Given the description of an element on the screen output the (x, y) to click on. 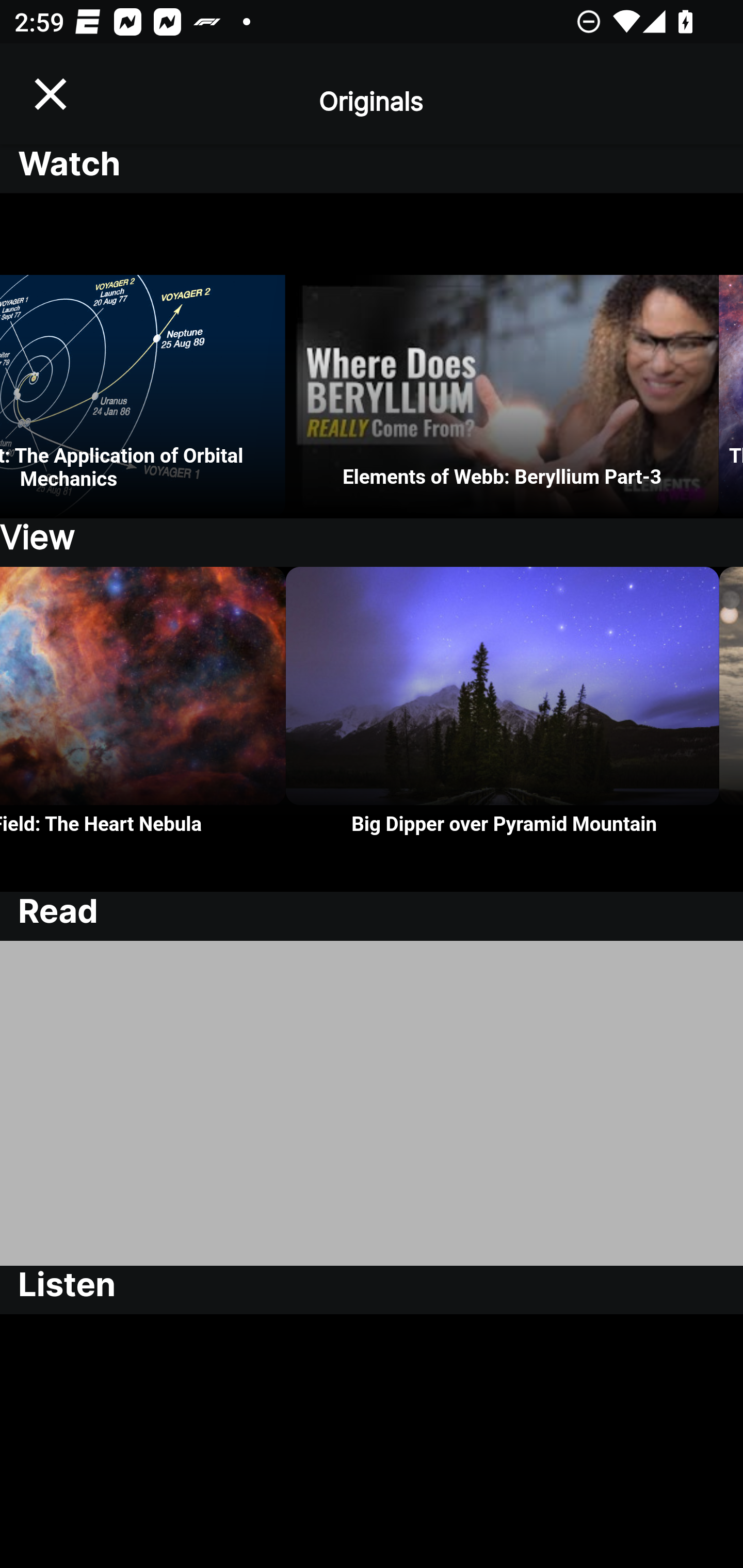
Space Flight: The Application of Orbital Mechanics (142, 355)
Elements of Webb: Beryllium Part-3 (501, 355)
Deep Field: The Heart Nebula (143, 729)
Big Dipper over Pyramid Mountain (502, 729)
